Given the description of an element on the screen output the (x, y) to click on. 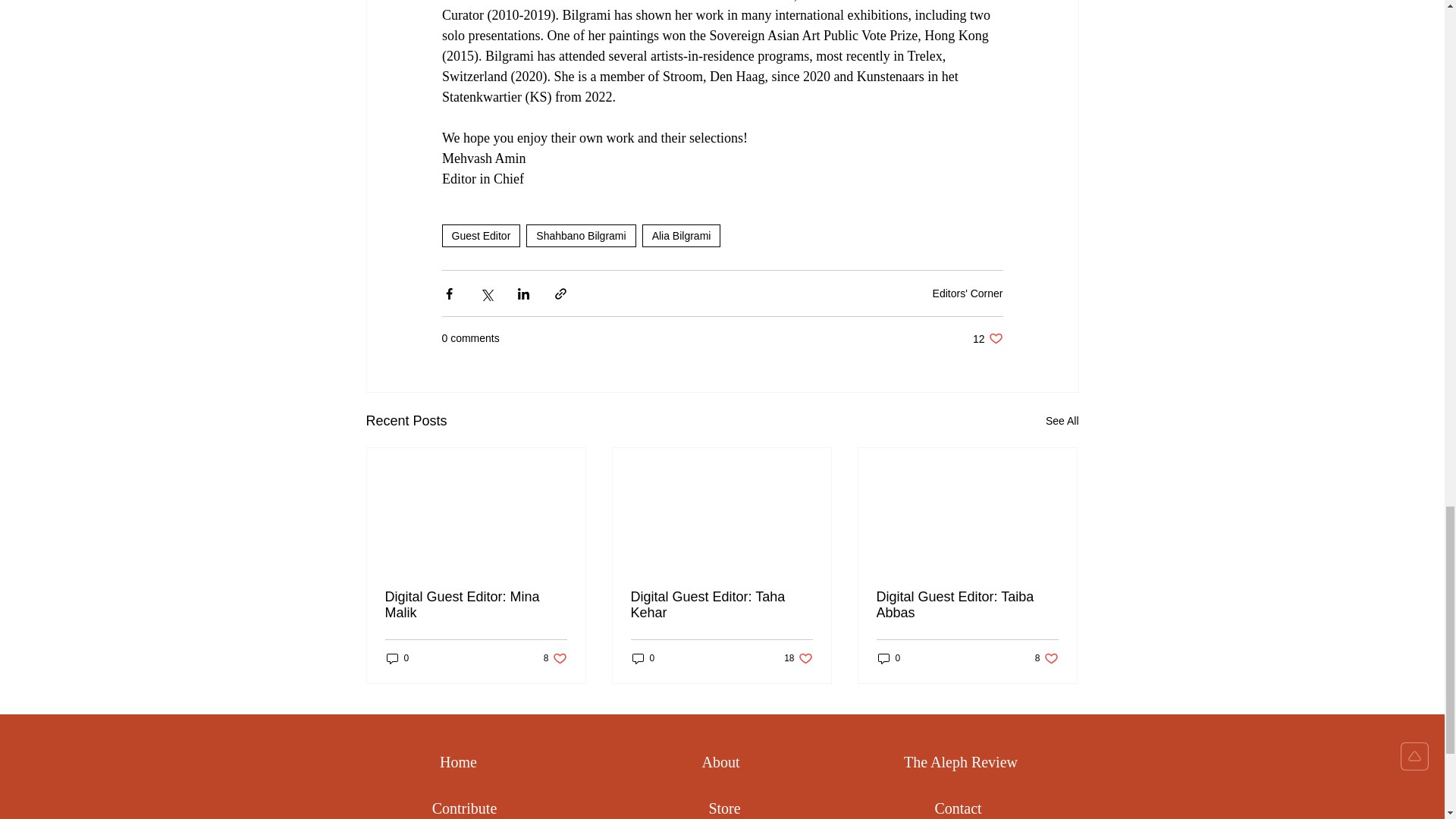
Alia Bilgrami (681, 235)
Digital Guest Editor: Mina Malik (987, 338)
Editors' Corner (476, 604)
0 (555, 657)
See All (968, 292)
Guest Editor (397, 657)
Shahbano Bilgrami (1061, 421)
